Given the description of an element on the screen output the (x, y) to click on. 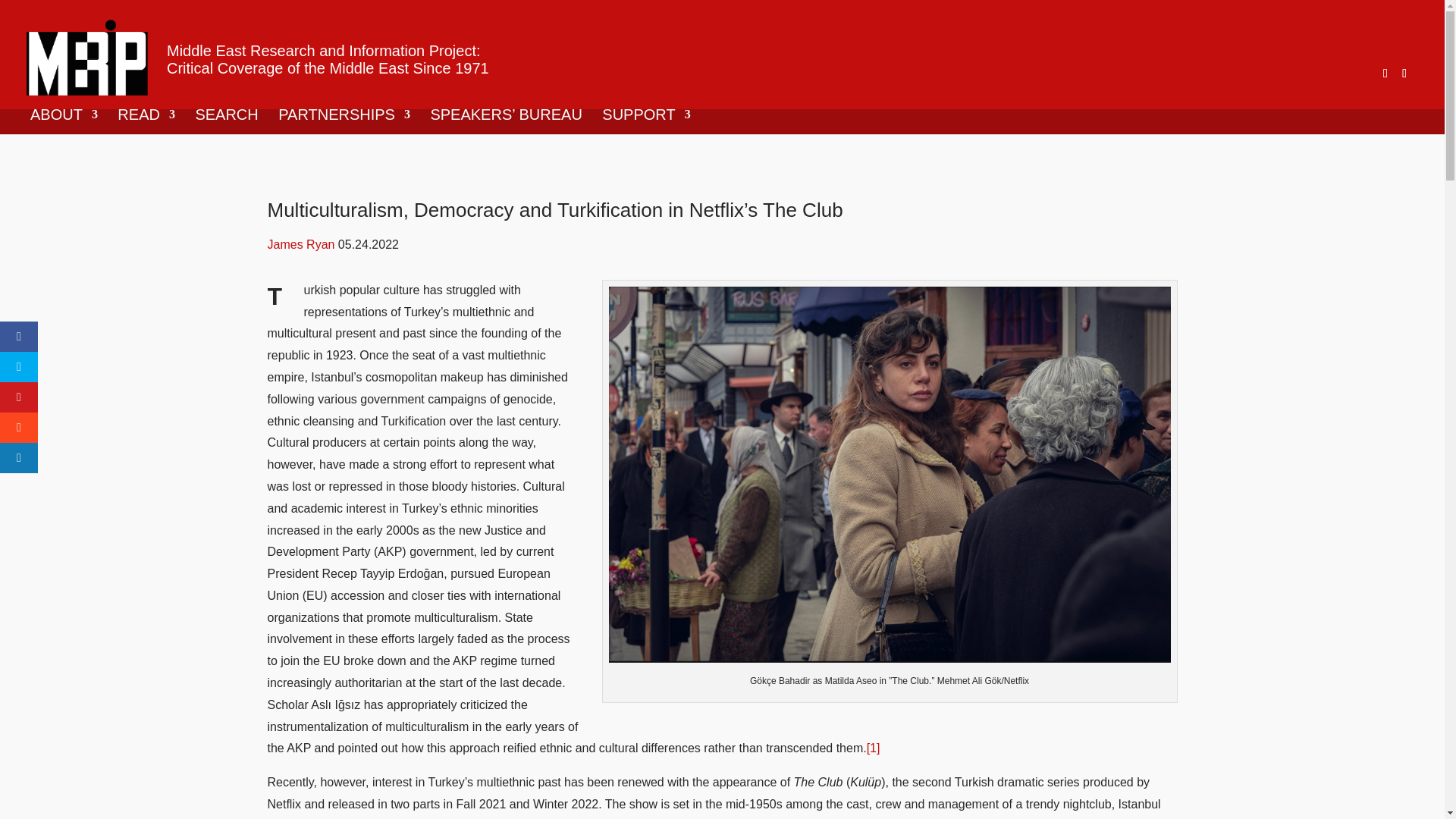
SUPPORT (646, 121)
ABOUT (63, 121)
READ (145, 121)
SEARCH (226, 121)
PARTNERSHIPS (344, 121)
